Given the description of an element on the screen output the (x, y) to click on. 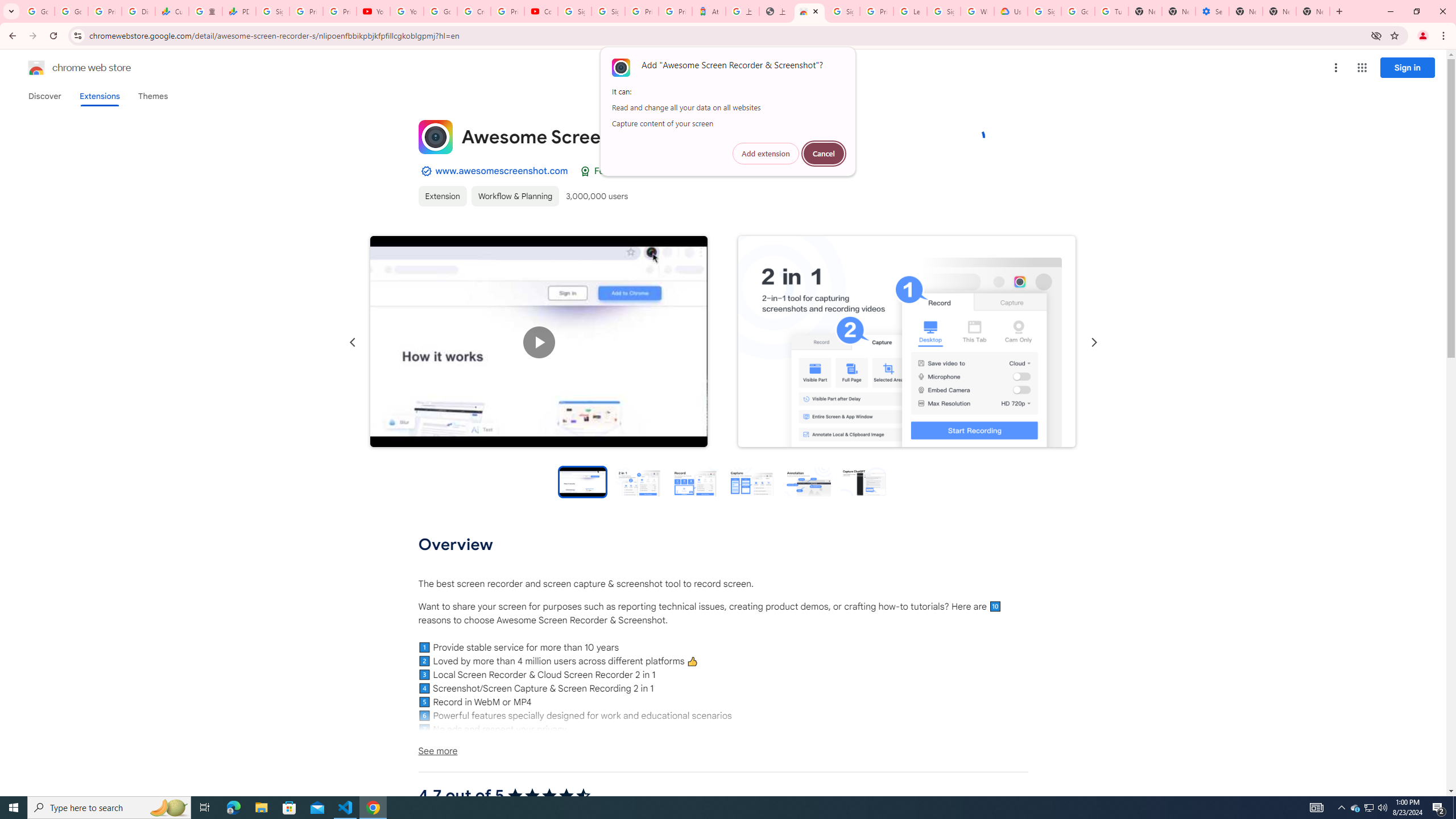
Add extension (765, 153)
Running applications (717, 807)
Chrome Web Store logo (36, 67)
Notification Chevron (1341, 807)
Preview slide 6 (863, 481)
AutomationID: 4105 (1316, 807)
Who are Google's partners? - Privacy and conditions - Google (976, 11)
File Explorer (261, 807)
Start (13, 807)
Extension (442, 195)
Preview slide 1 (582, 481)
